Given the description of an element on the screen output the (x, y) to click on. 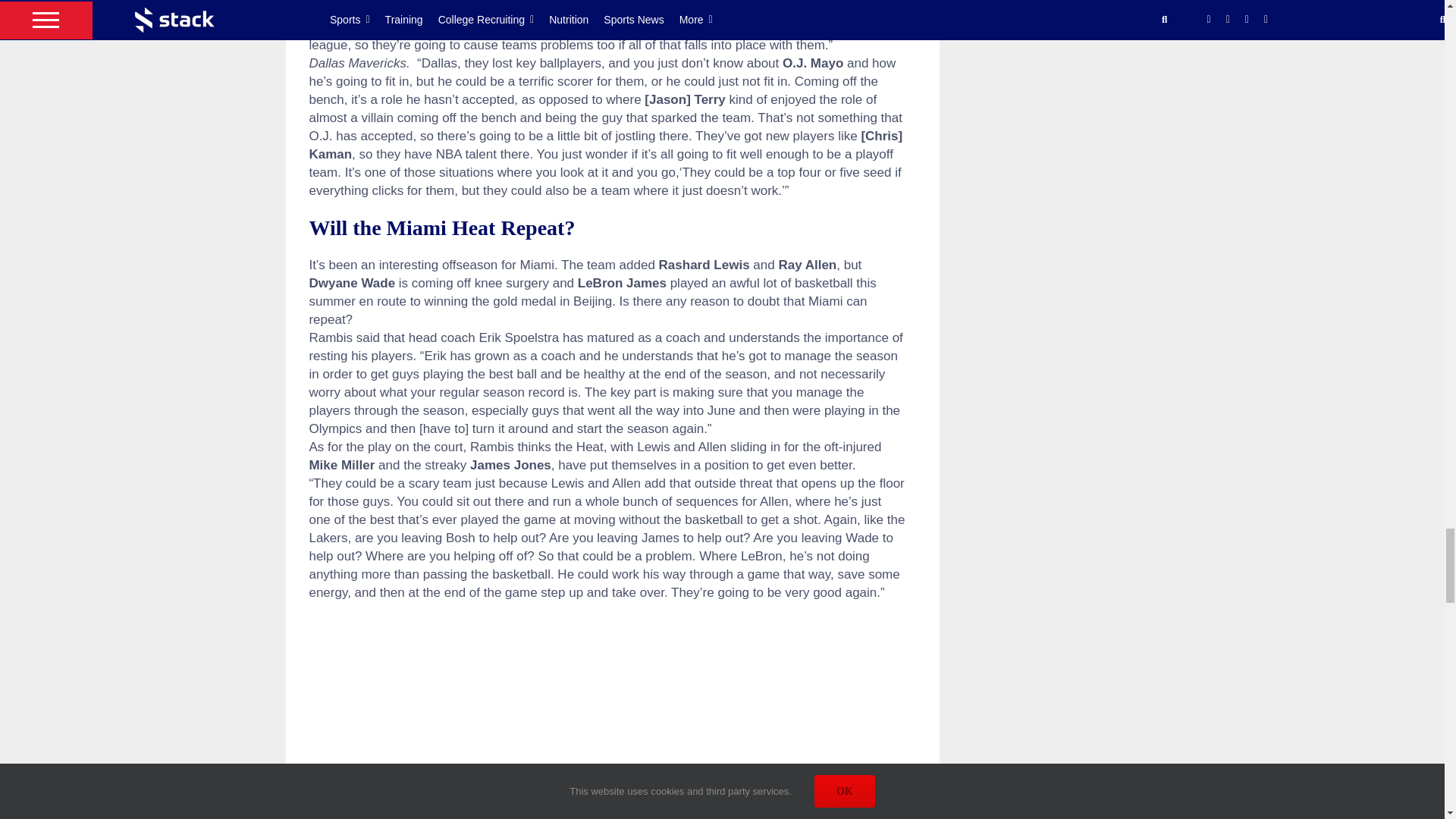
Ray Allen - STACK (606, 718)
